Given the description of an element on the screen output the (x, y) to click on. 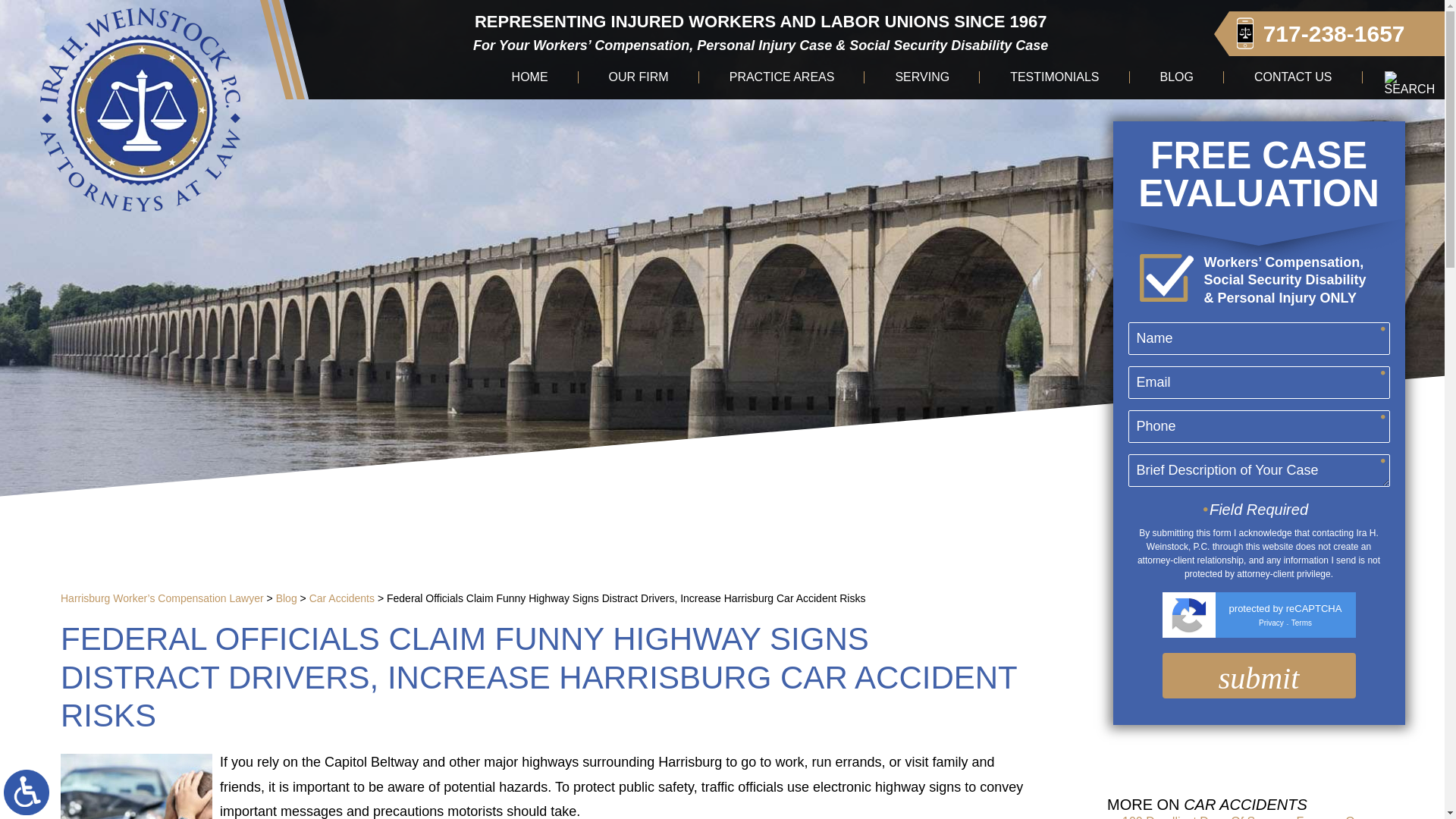
HOME (529, 76)
PRACTICE AREAS (782, 76)
CarAccident3 (136, 786)
submit (1258, 675)
Switch to ADA Accessible Theme (26, 791)
Search (1409, 83)
OUR FIRM (639, 76)
